Given the description of an element on the screen output the (x, y) to click on. 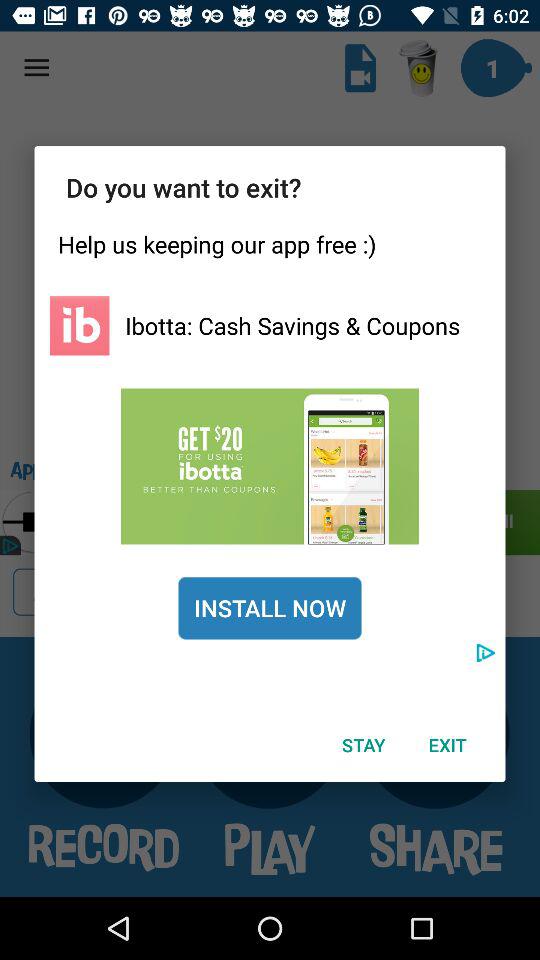
click here to get more information (269, 466)
